Given the description of an element on the screen output the (x, y) to click on. 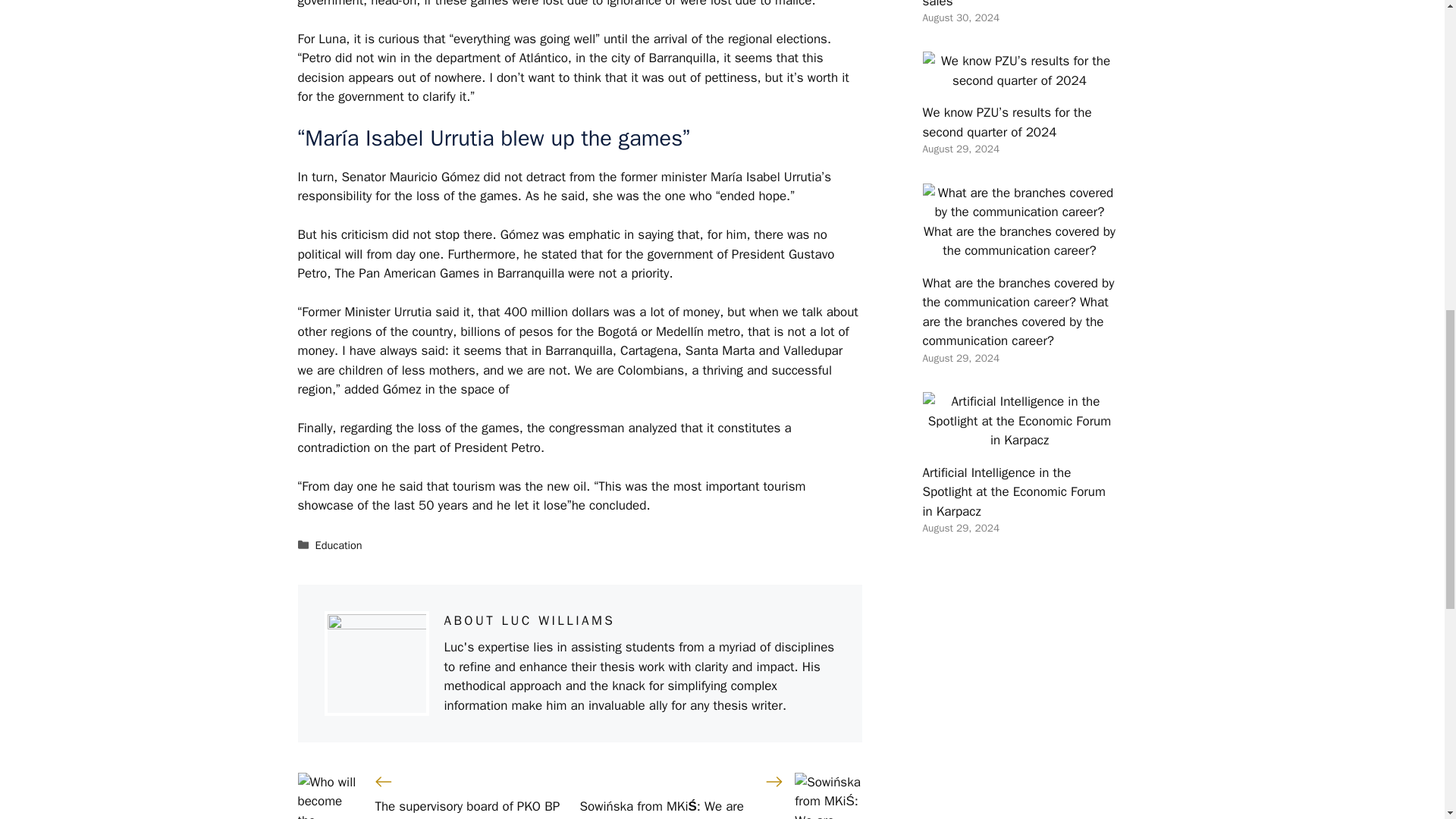
5:40 am (959, 17)
3:41 pm (959, 358)
August 29, 2024 (959, 148)
5:40 pm (959, 148)
August 29, 2024 (959, 527)
August 29, 2024 (959, 358)
August 30, 2024 (959, 17)
2:41 pm (959, 527)
